Given the description of an element on the screen output the (x, y) to click on. 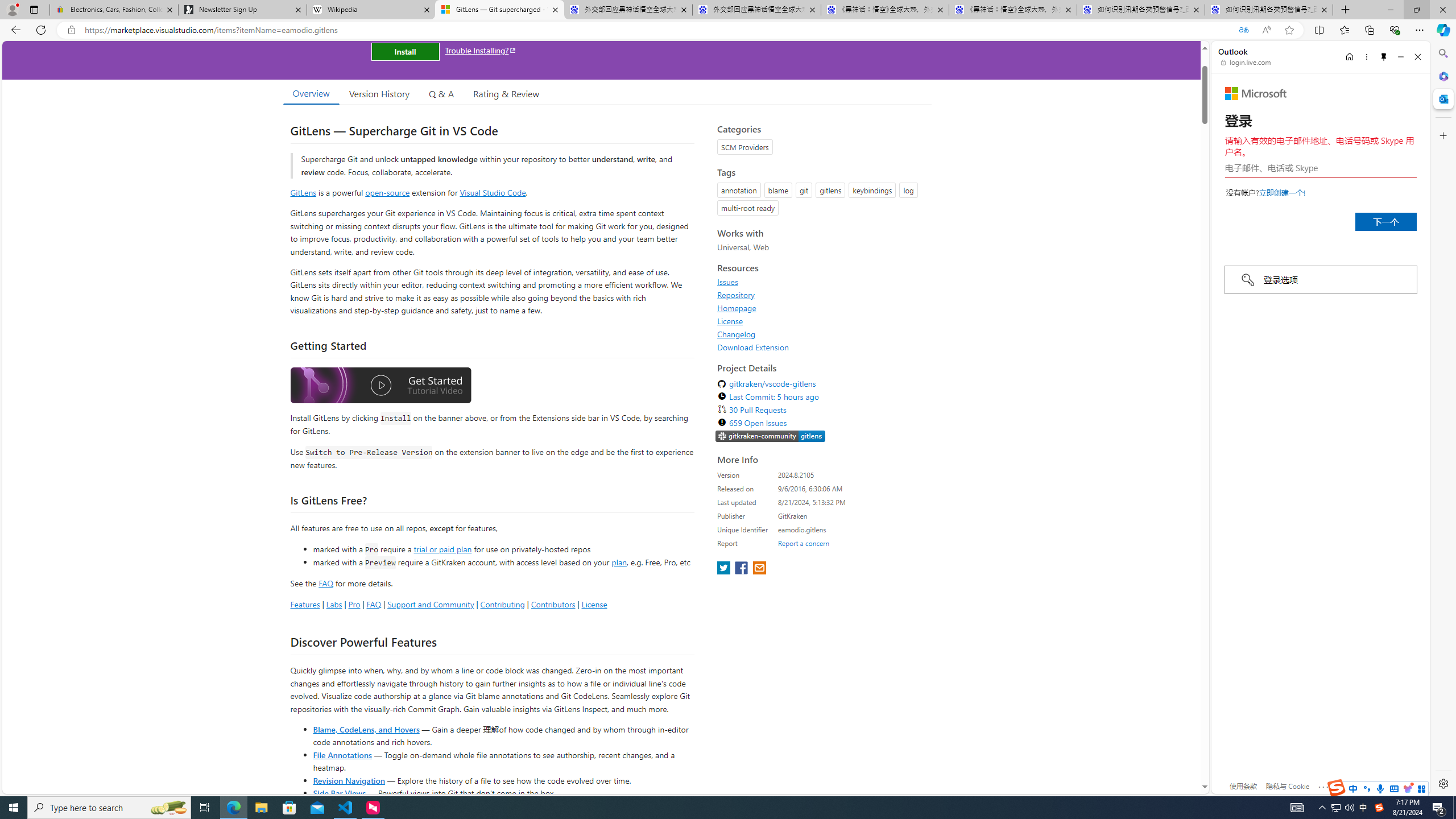
login.live.com (1246, 61)
Overview (310, 92)
Pro (354, 603)
open-source (387, 192)
FAQ (373, 603)
Contributing (502, 603)
